Given the description of an element on the screen output the (x, y) to click on. 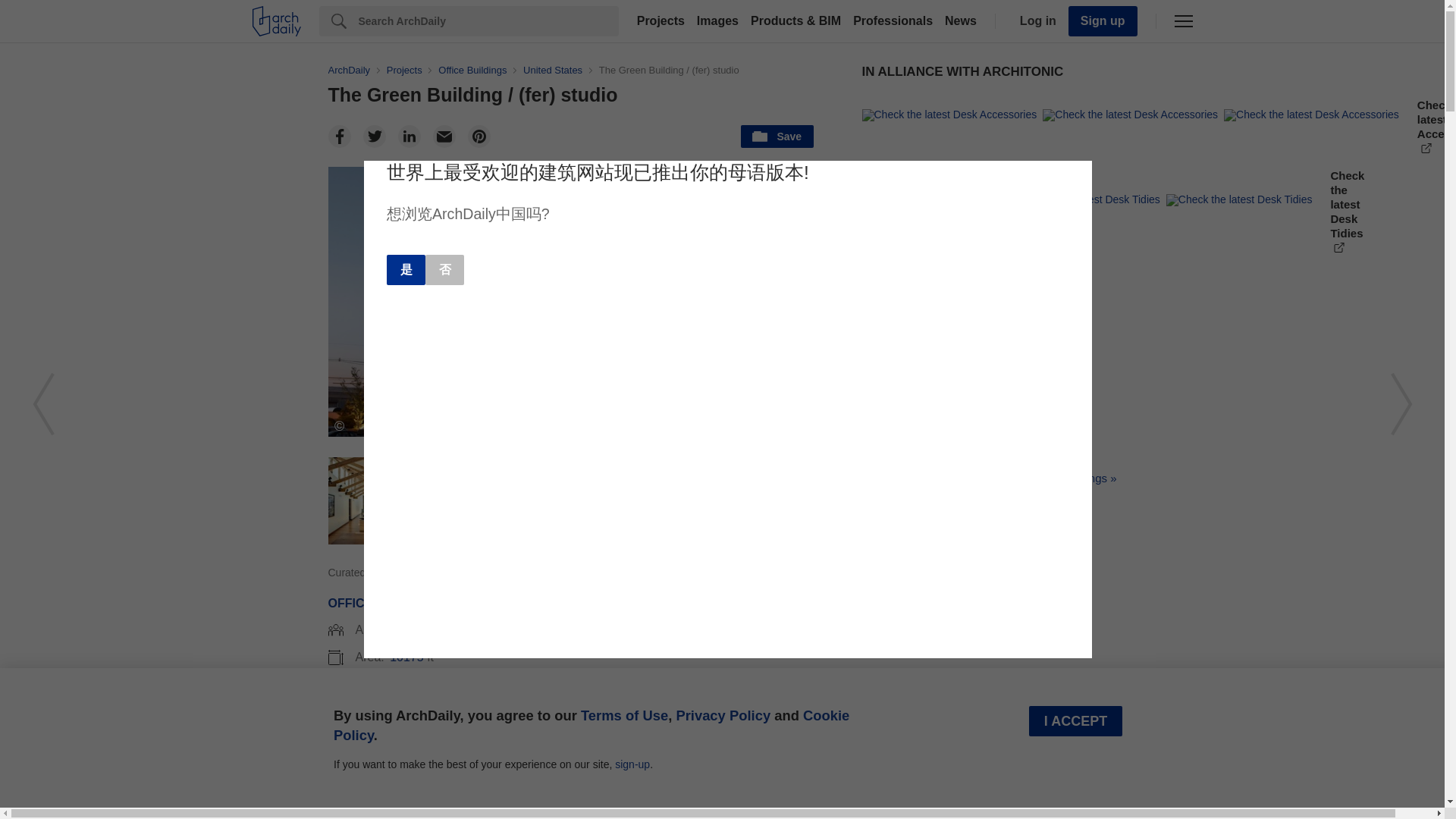
News (960, 21)
Projects (660, 21)
Professionals (893, 21)
Images (717, 21)
Log in (1035, 20)
Sign up (1102, 20)
